Given the description of an element on the screen output the (x, y) to click on. 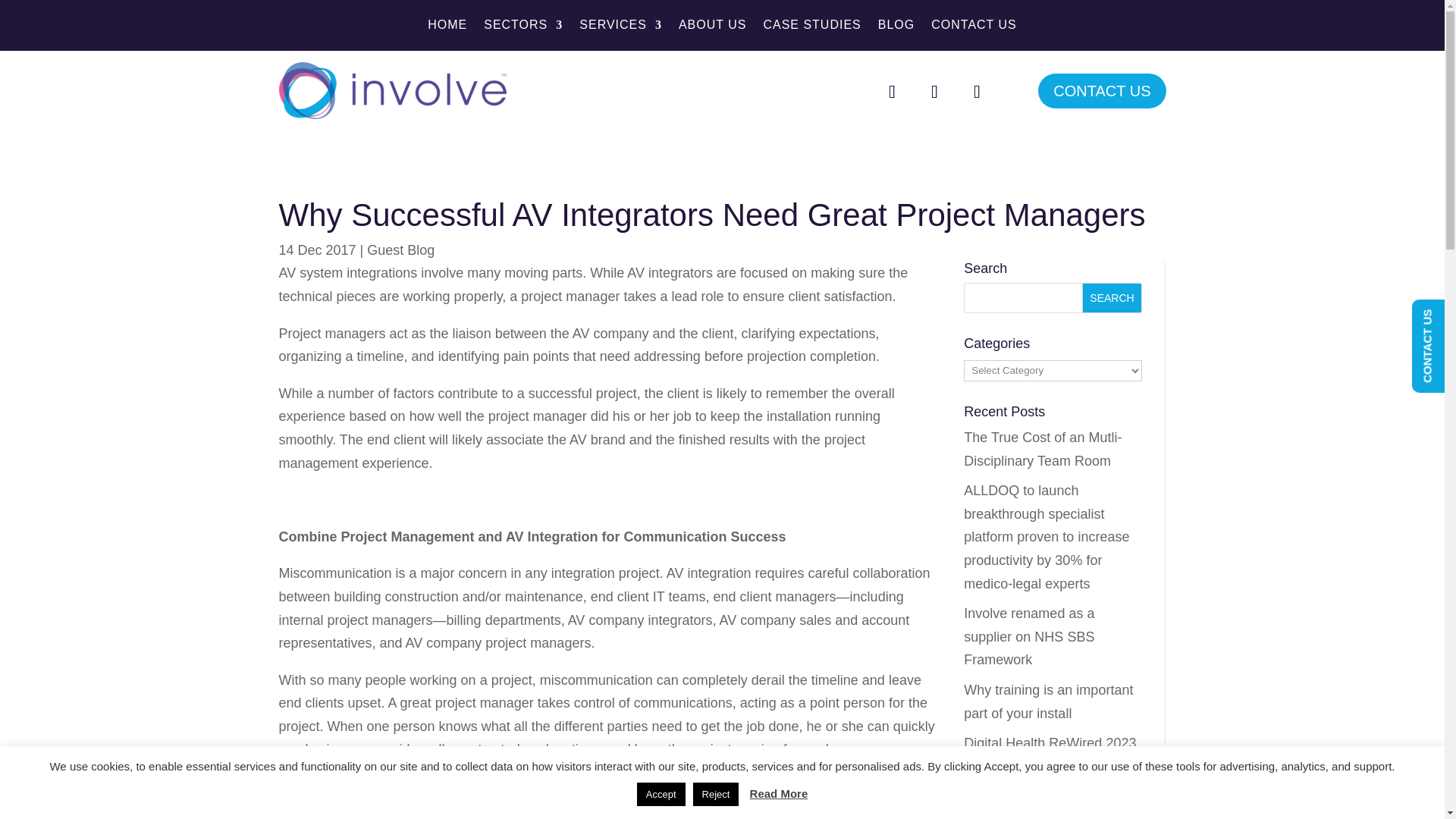
HOME (447, 28)
Follow on Facebook (891, 91)
Follow on X (933, 91)
Involve (392, 90)
Follow on LinkedIn (976, 91)
SECTORS (522, 28)
Search (1111, 297)
